Given the description of an element on the screen output the (x, y) to click on. 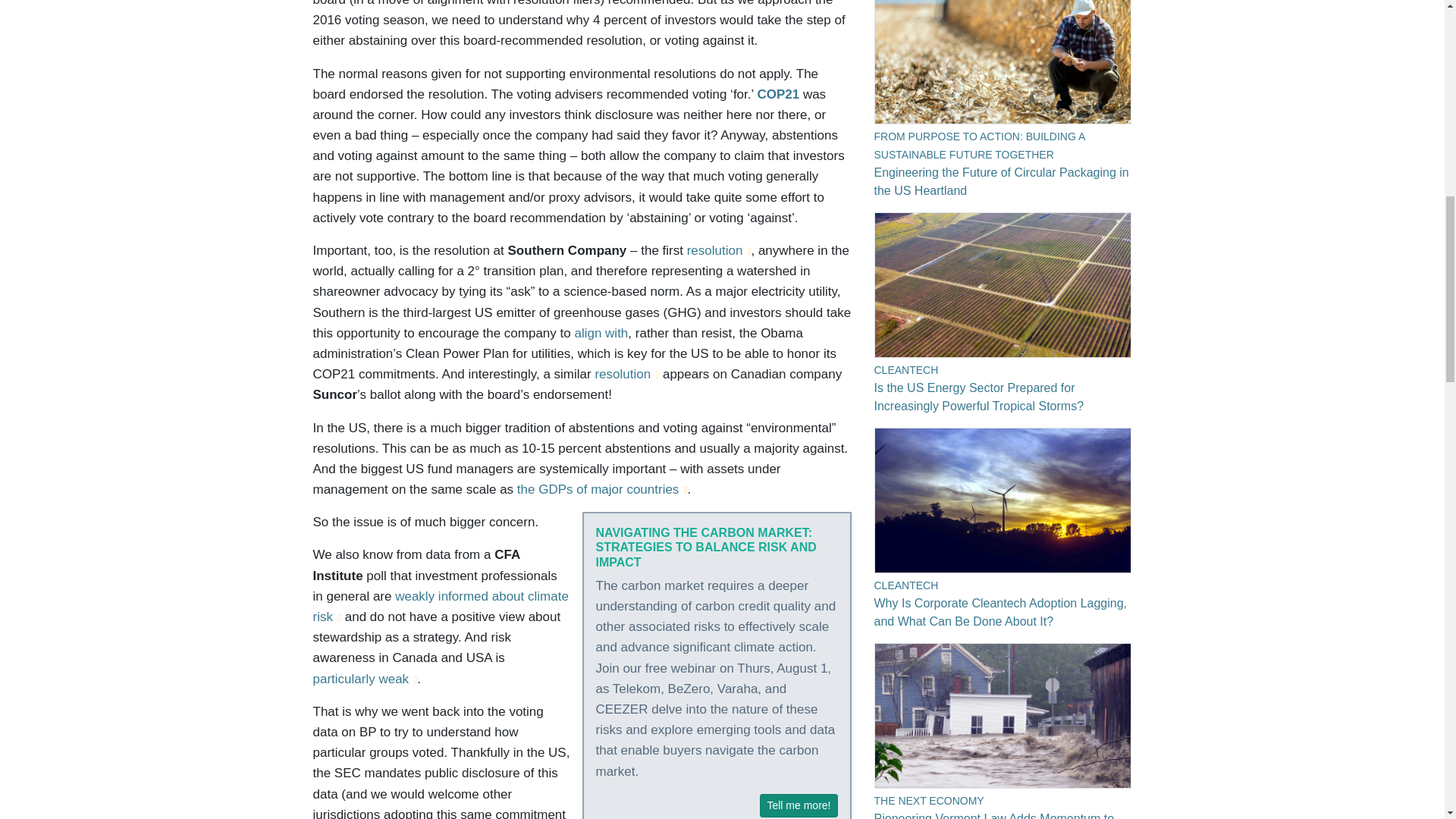
COP21 (778, 93)
